Given the description of an element on the screen output the (x, y) to click on. 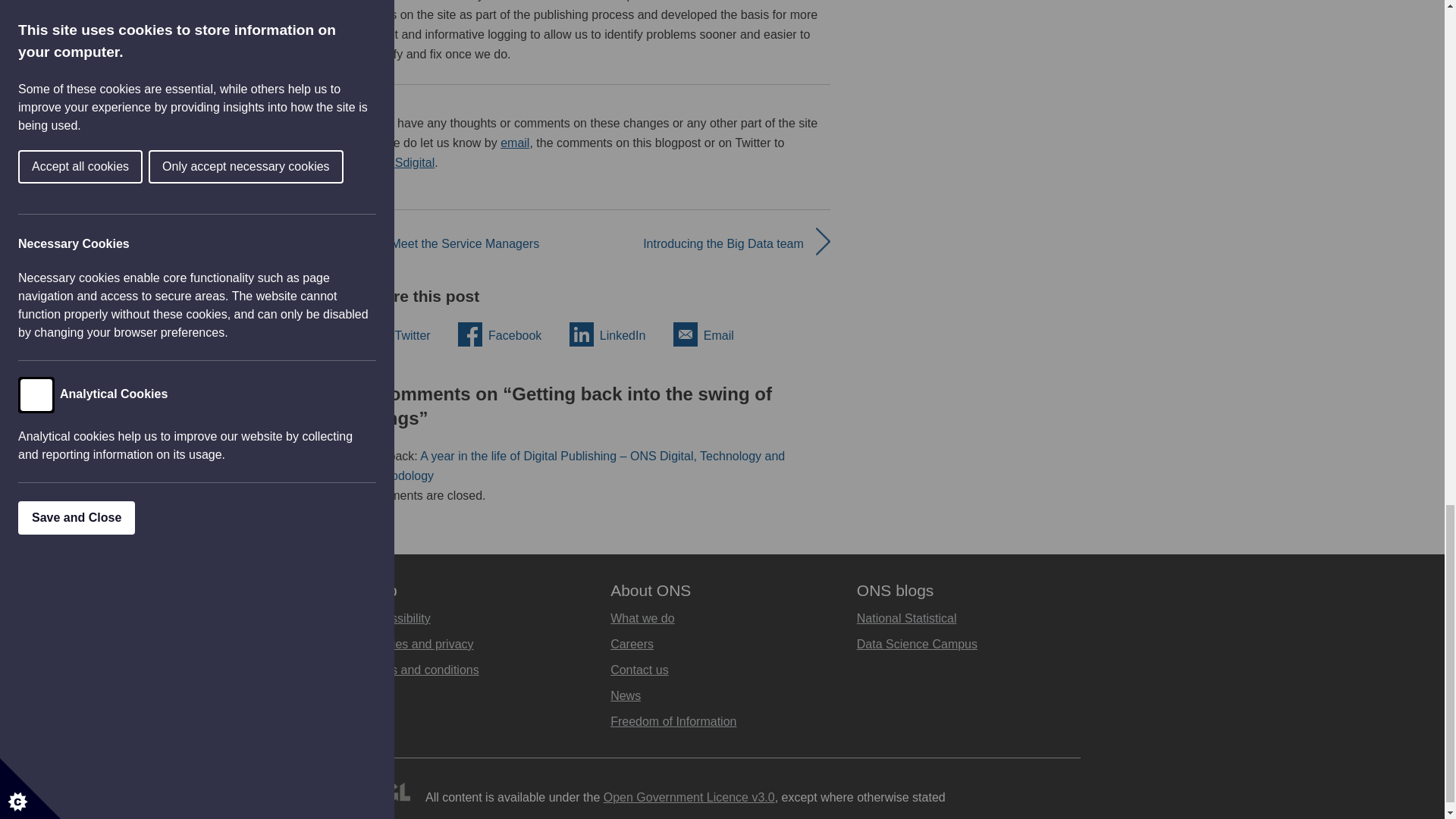
Accessibility (396, 617)
Contact us (639, 669)
News (625, 695)
Terms and conditions (421, 669)
Meet the Service Managers (465, 243)
Careers (631, 644)
Cookies and privacy (418, 644)
Freedom of Information (673, 721)
National Statistical (906, 617)
email (514, 142)
